Given the description of an element on the screen output the (x, y) to click on. 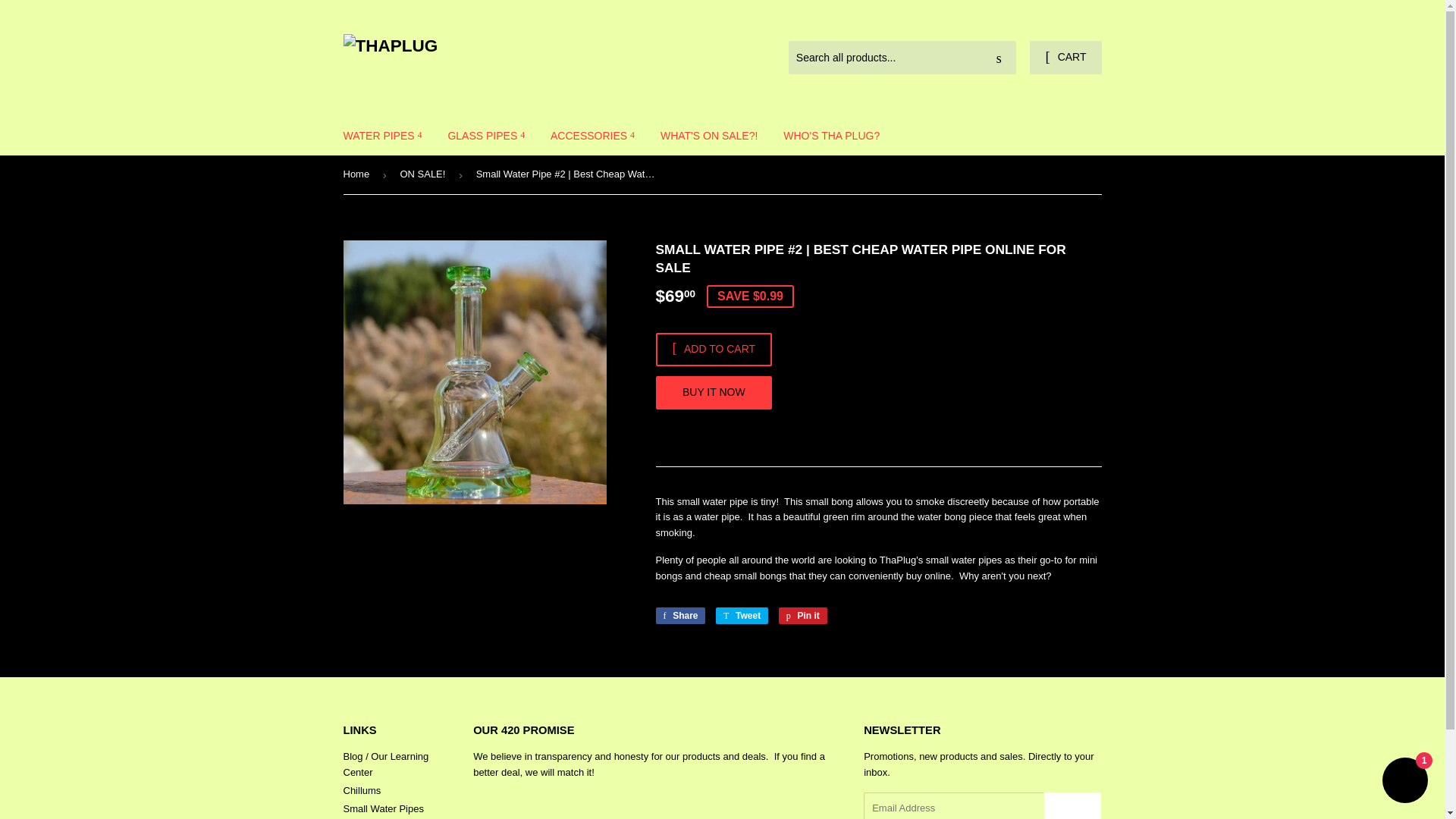
WATER PIPES (382, 135)
CART (1064, 57)
Search (998, 58)
Pin on Pinterest (802, 615)
Share on Facebook (679, 615)
Tweet on Twitter (742, 615)
Shopify online store chat (1404, 781)
